Given the description of an element on the screen output the (x, y) to click on. 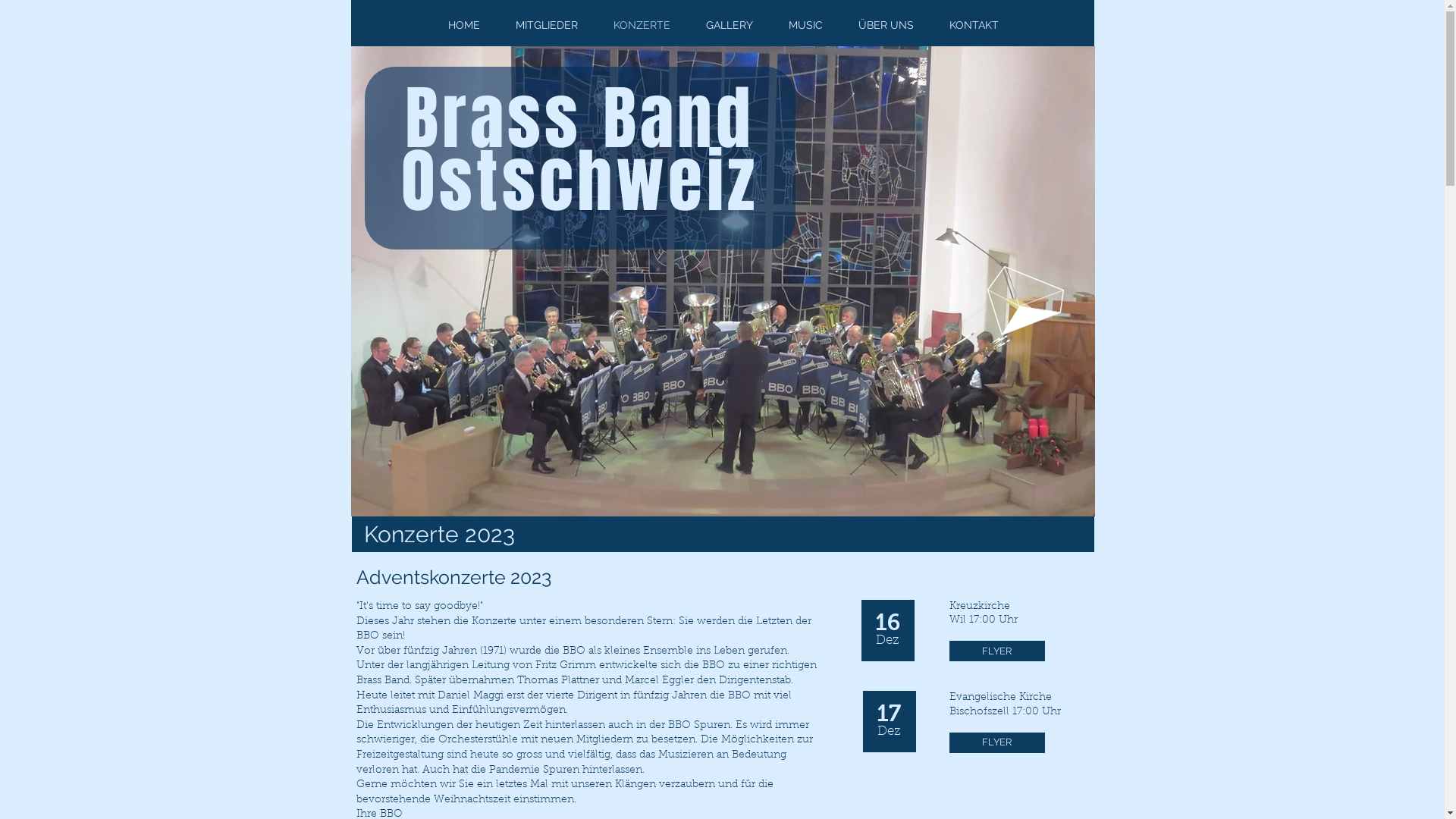
KONZERTE Element type: text (642, 24)
HOME Element type: text (464, 24)
FLYER Element type: text (996, 742)
IMG_6896.JPG Element type: hover (722, 281)
GALLERY Element type: text (729, 24)
MITGLIEDER Element type: text (546, 24)
FLYER Element type: text (996, 650)
MUSIC Element type: text (805, 24)
KONTAKT Element type: text (973, 24)
